Given the description of an element on the screen output the (x, y) to click on. 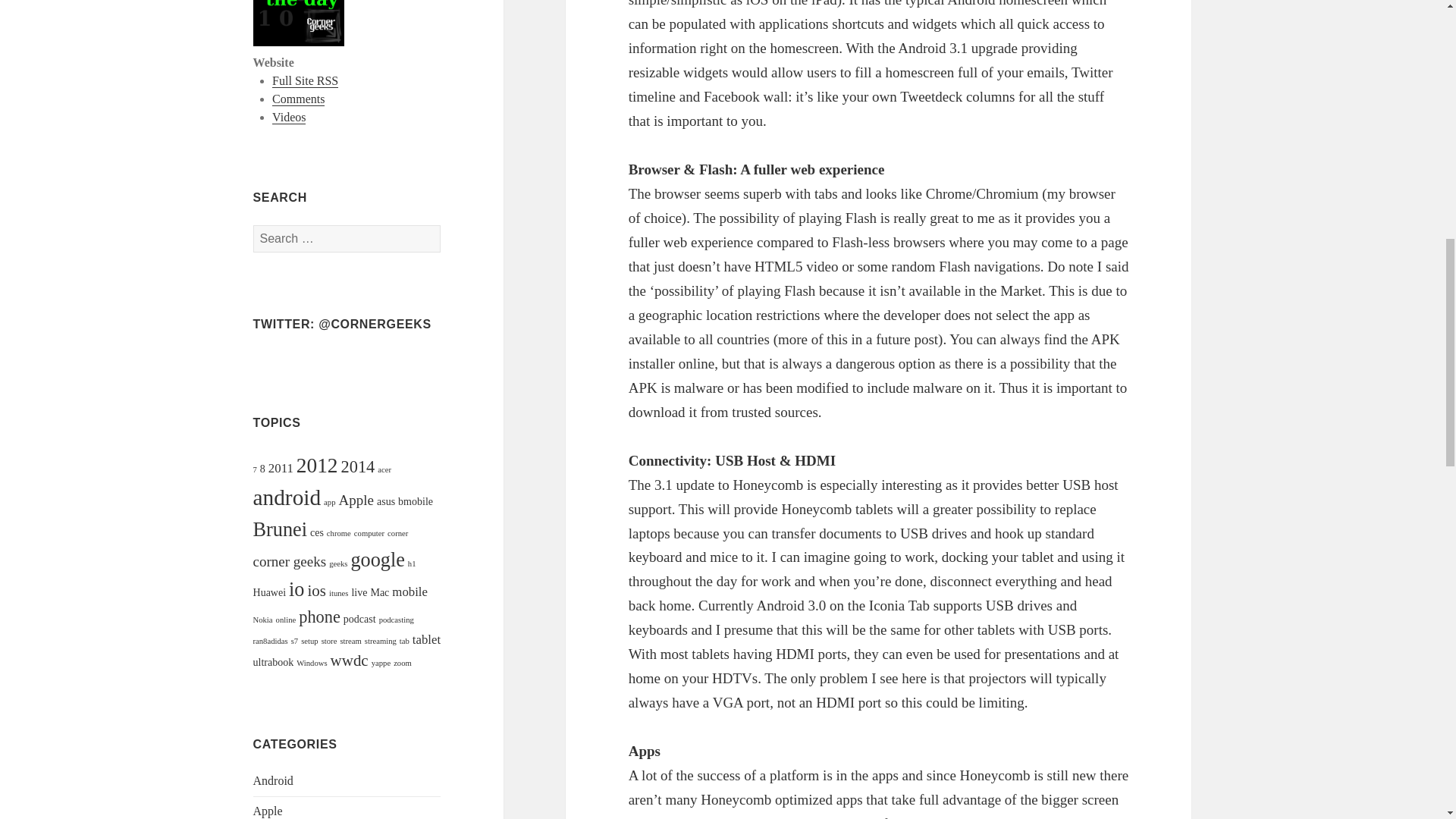
android (287, 497)
geeks (338, 563)
ces (316, 532)
Brunei (280, 529)
google (377, 559)
Apple (354, 499)
corner (397, 533)
Comments (298, 99)
app (328, 501)
acer (384, 470)
Full Site RSS (304, 80)
chrome (338, 533)
Videos (288, 117)
